Given the description of an element on the screen output the (x, y) to click on. 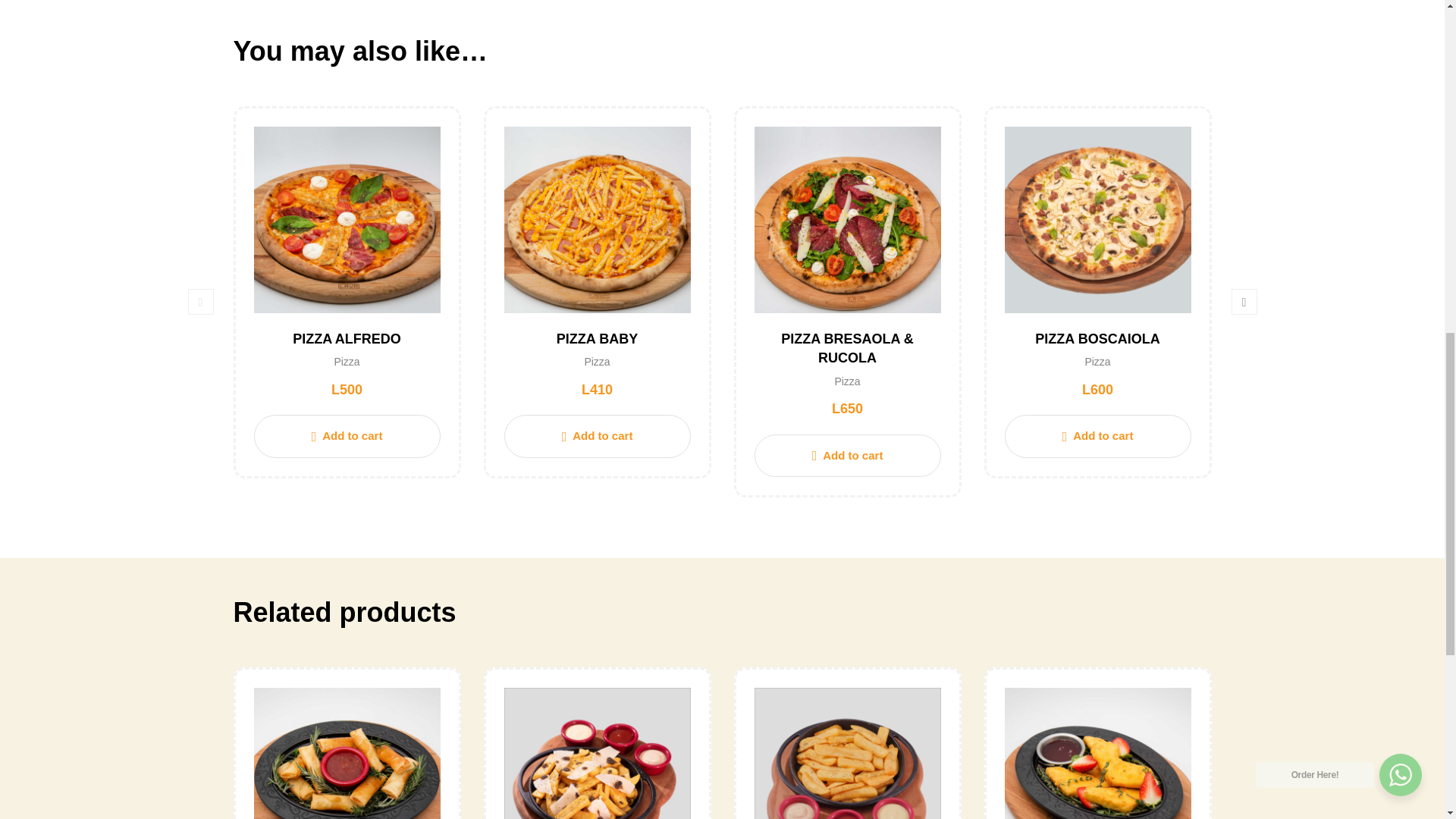
PIZZA ALFREDO (346, 338)
PIZZA BABY (596, 338)
Pizza (346, 361)
Add to cart (596, 435)
Add to cart (346, 435)
Previous (200, 301)
Pizza (596, 361)
